Given the description of an element on the screen output the (x, y) to click on. 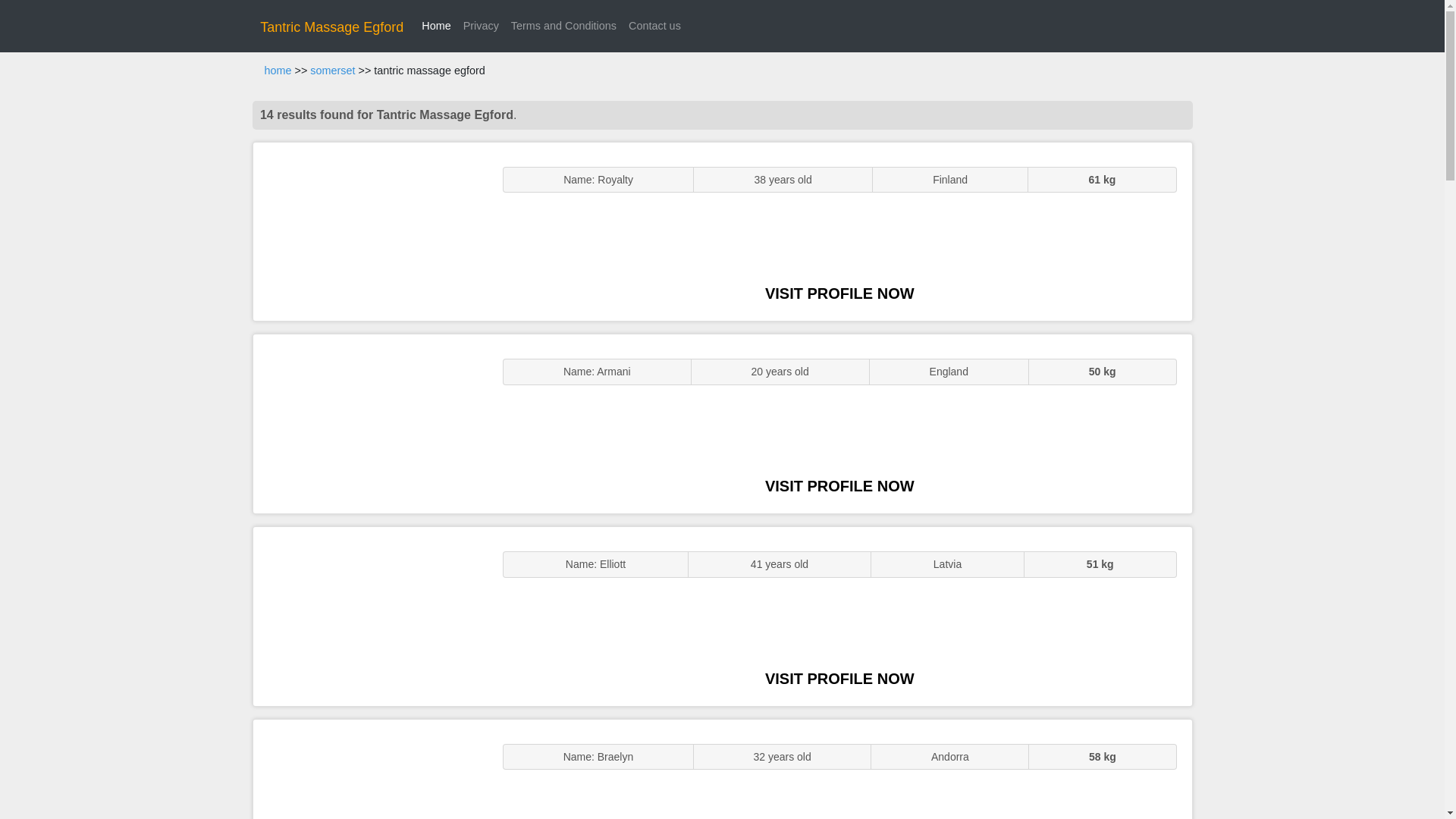
VISIT PROFILE NOW (839, 293)
Sluts (370, 769)
Tantric Massage Egford (331, 27)
Sexy (370, 616)
home (277, 70)
 ENGLISH STUNNER (370, 231)
somerset (332, 70)
Privacy (481, 25)
VISIT PROFILE NOW (839, 678)
Contact us (655, 25)
VISIT PROFILE NOW (839, 485)
Terms and Conditions (564, 25)
GFE (370, 423)
